Given the description of an element on the screen output the (x, y) to click on. 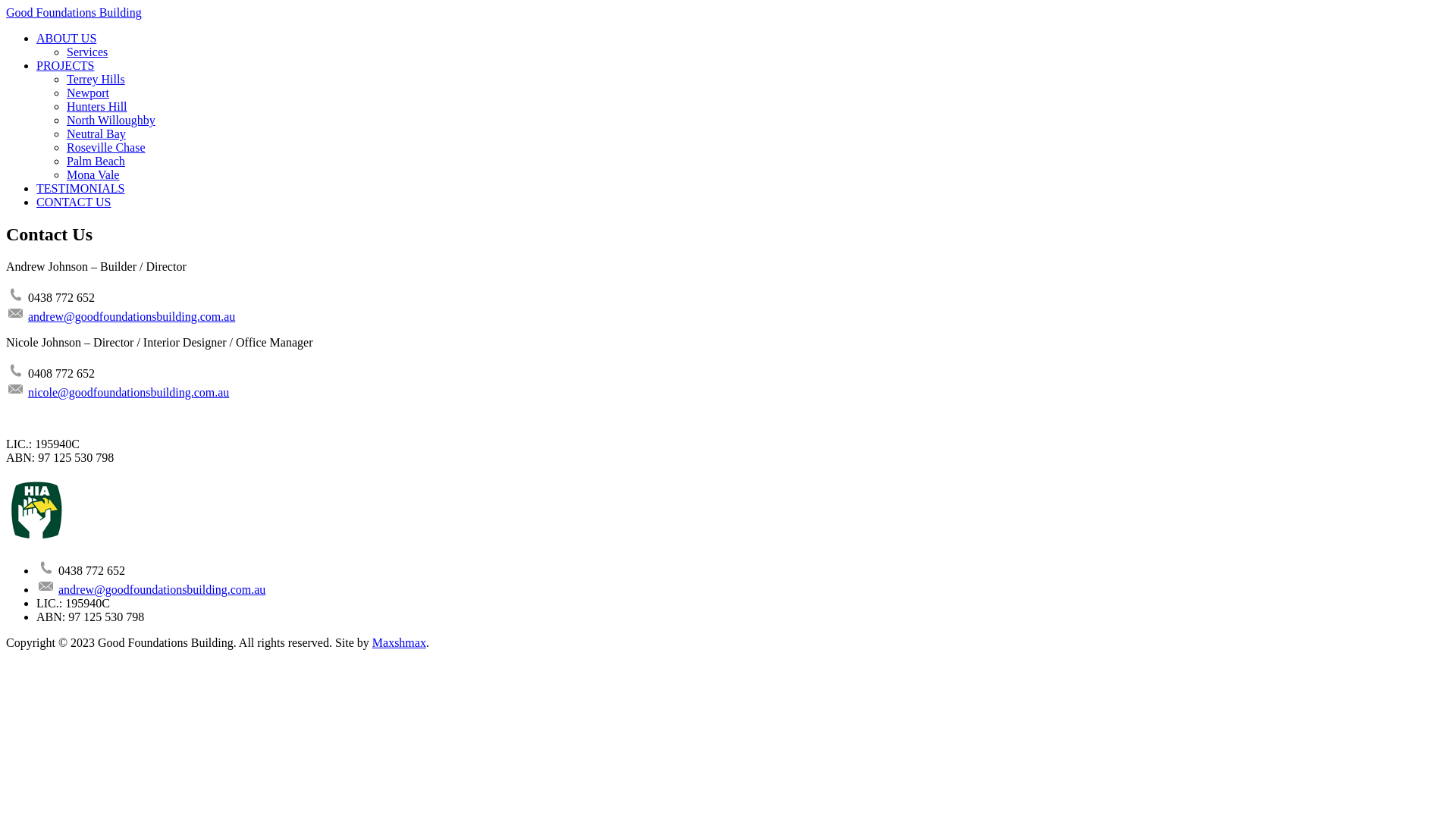
nicole@goodfoundationsbuilding.com.au Element type: text (128, 391)
Newport Element type: text (87, 92)
TESTIMONIALS Element type: text (80, 188)
andrew@goodfoundationsbuilding.com.au Element type: text (131, 316)
Good Foundations Building Element type: text (73, 12)
ABOUT US Element type: text (66, 37)
Palm Beach Element type: text (95, 160)
Roseville Chase Element type: text (105, 147)
andrew@goodfoundationsbuilding.com.au Element type: text (161, 589)
Hunters Hill Element type: text (96, 106)
Neutral Bay Element type: text (95, 133)
Services Element type: text (86, 51)
Maxshmax Element type: text (399, 642)
North Willoughby Element type: text (110, 119)
CONTACT US Element type: text (73, 201)
Mona Vale Element type: text (92, 174)
Terrey Hills Element type: text (95, 78)
PROJECTS Element type: text (65, 65)
